Given the description of an element on the screen output the (x, y) to click on. 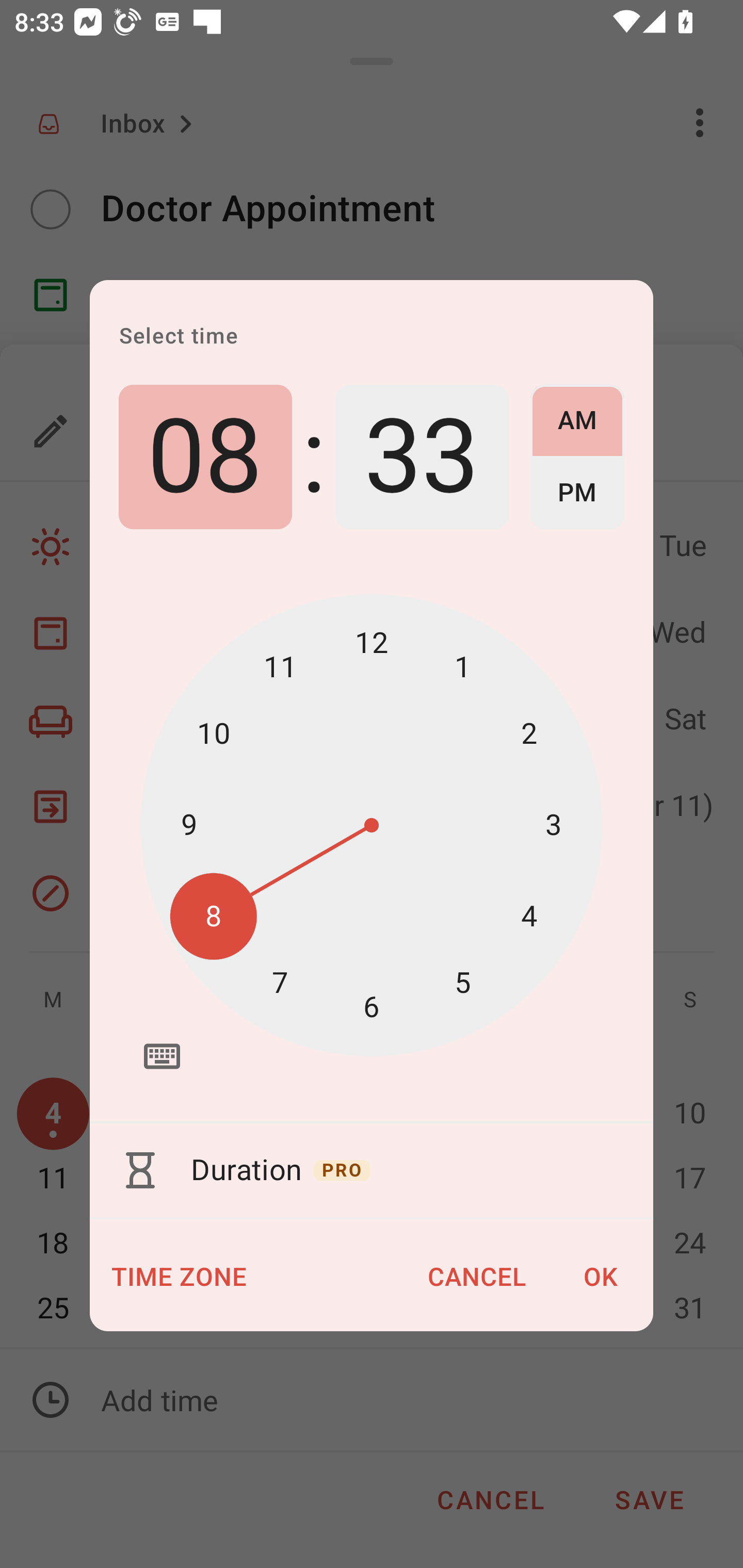
Select minutes 33 33 minutes (421, 456)
PM (577, 493)
12 o'clock (371, 643)
11 o'clock (280, 667)
1 o'clock (462, 667)
10 o'clock (213, 733)
2 o'clock (528, 733)
9 o'clock (189, 825)
3 o'clock (553, 825)
4 o'clock (528, 916)
7 o'clock (280, 983)
5 o'clock (462, 983)
6 o'clock (371, 1007)
Toggle input mode (161, 1055)
Duration PRO (371, 1170)
TIME ZONE (178, 1277)
CANCEL (477, 1277)
OK (600, 1277)
